Given the description of an element on the screen output the (x, y) to click on. 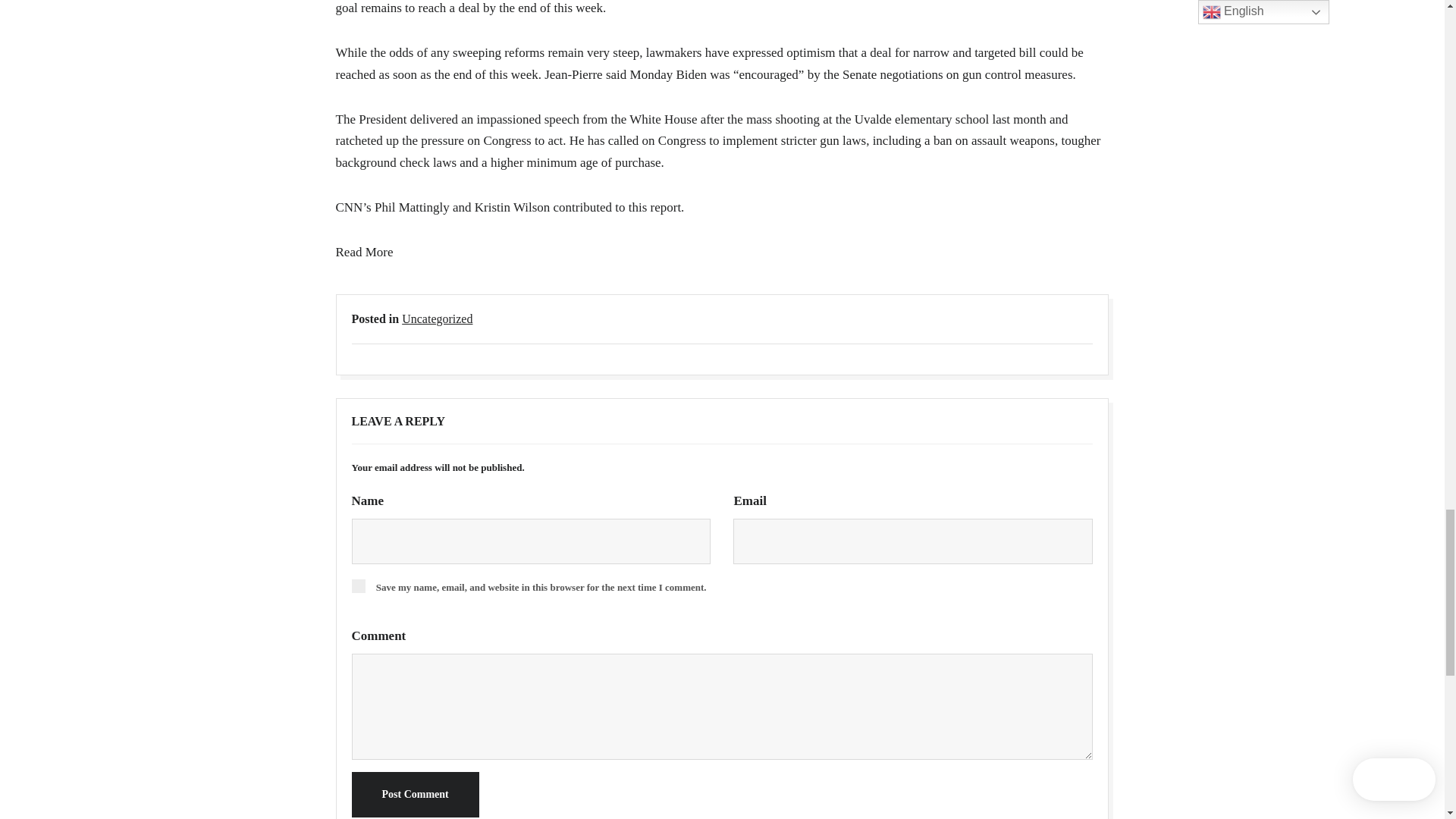
yes (358, 585)
